Given the description of an element on the screen output the (x, y) to click on. 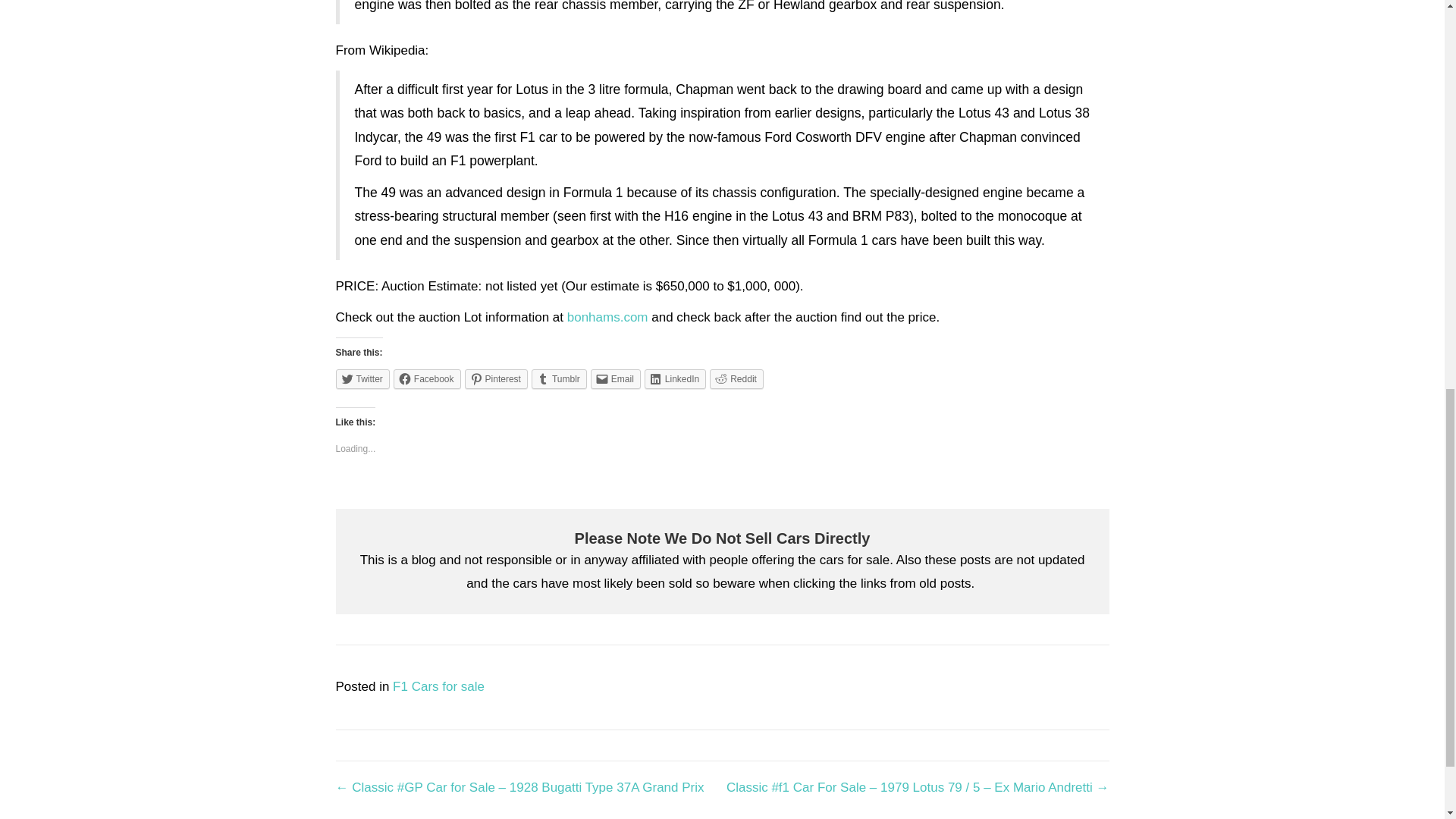
bonhams.com (607, 317)
Click to email a link to a friend (615, 379)
F1 Cars for sale (438, 686)
Tumblr (558, 379)
Reddit (736, 379)
Click to share on Tumblr (558, 379)
LinkedIn (675, 379)
Click to share on Facebook (427, 379)
Goodwood Festival of Speed Auction (607, 317)
Click to share on Reddit (736, 379)
Facebook (427, 379)
Click to share on Twitter (361, 379)
Click to share on LinkedIn (675, 379)
Pinterest (495, 379)
Click to share on Pinterest (495, 379)
